Given the description of an element on the screen output the (x, y) to click on. 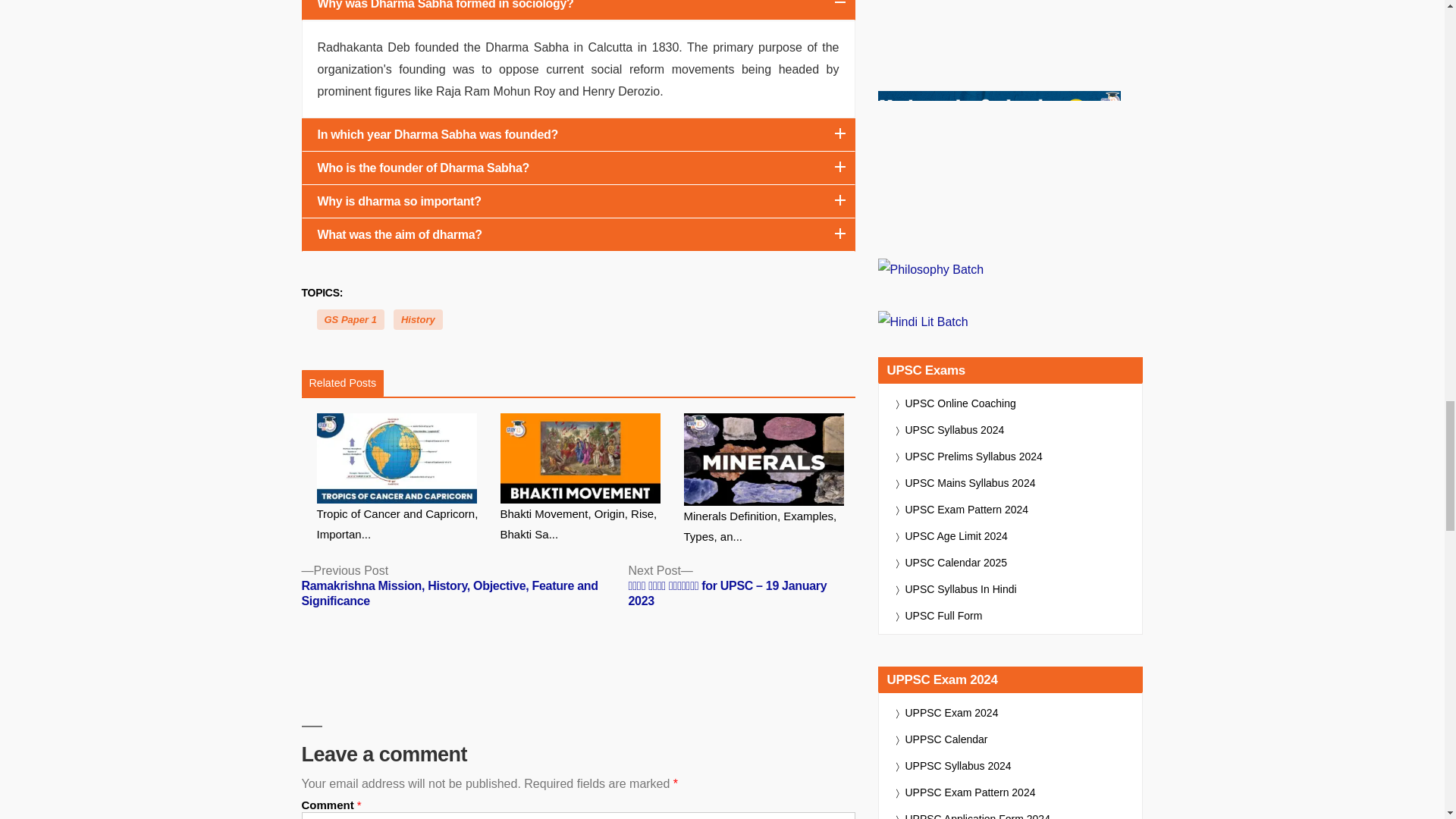
Tropic of Cancer and Capricorn, Importance and Difference (402, 478)
Minerals Definition, Examples, Types, and Classification (770, 480)
